Given the description of an element on the screen output the (x, y) to click on. 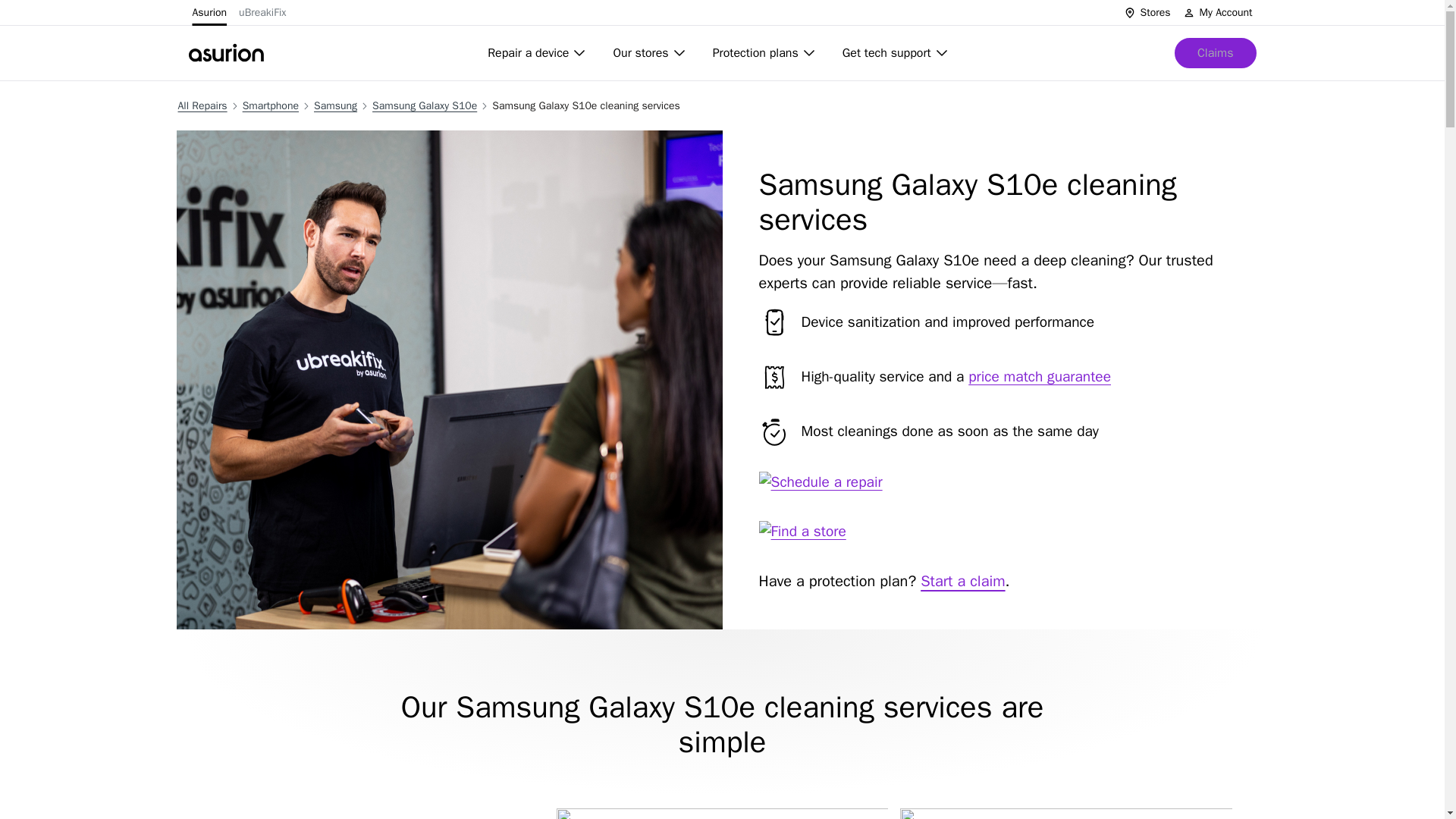
Our stores (649, 52)
Claims (1215, 52)
Stores (1147, 12)
Get tech support (895, 52)
Asurion (209, 12)
Repair a device (537, 52)
Protection plans (764, 52)
uBreakiFix (261, 12)
My Account (1217, 12)
